Given the description of an element on the screen output the (x, y) to click on. 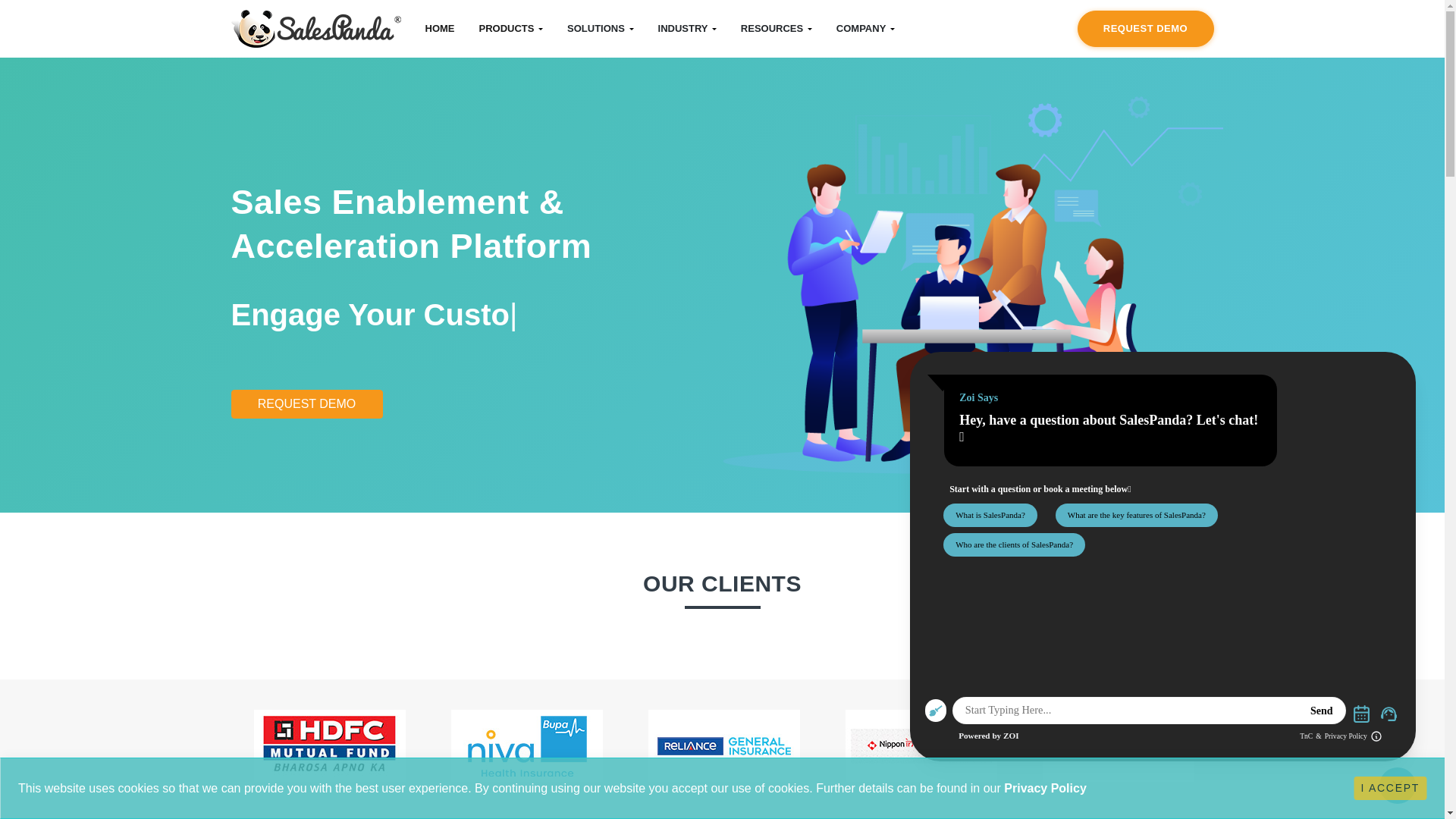
PRODUCTS (511, 28)
HOME (438, 28)
SOLUTIONS (599, 28)
INDUSTRY (687, 28)
What is SalesPanda? (990, 514)
What are the key features of SalesPanda? (1136, 514)
Who are the clients of SalesPanda? (1014, 544)
